Given the description of an element on the screen output the (x, y) to click on. 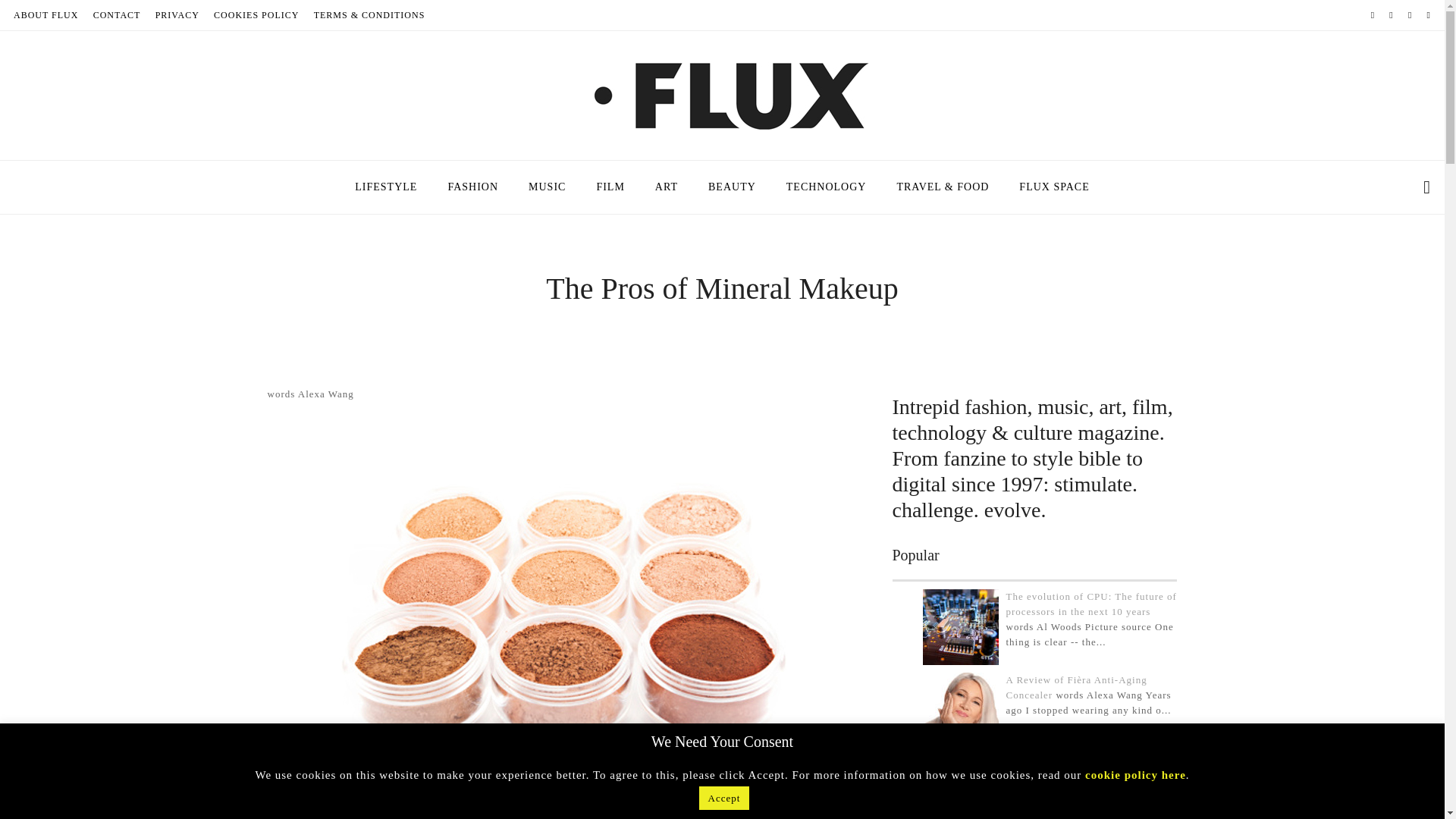
LIFESTYLE (385, 186)
CONTACT (117, 15)
PRIVACY (177, 15)
FASHION (472, 186)
ART (666, 186)
FILM (609, 186)
BEAUTY (732, 186)
TECHNOLOGY (826, 186)
ABOUT FLUX (45, 15)
COOKIES POLICY (256, 15)
MUSIC (546, 186)
